Given the description of an element on the screen output the (x, y) to click on. 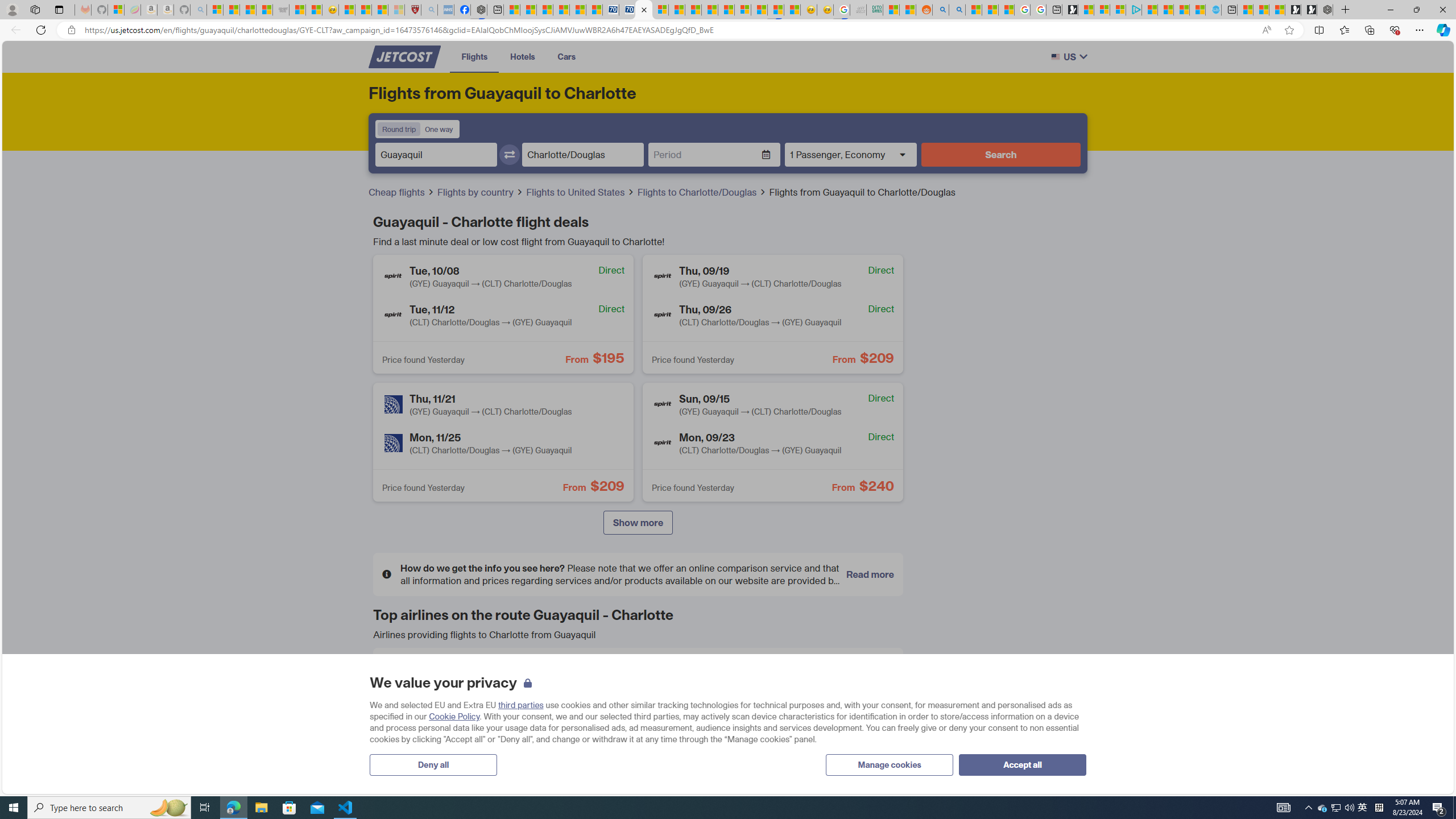
Spirit Airlines (744, 715)
Cheap Car Rentals - Save70.com (611, 9)
Flights (474, 56)
Flights to United States (579, 191)
Flights to United States (576, 191)
Flights to Charlotte/Douglas (702, 191)
Copa Airlines (744, 674)
